Given the description of an element on the screen output the (x, y) to click on. 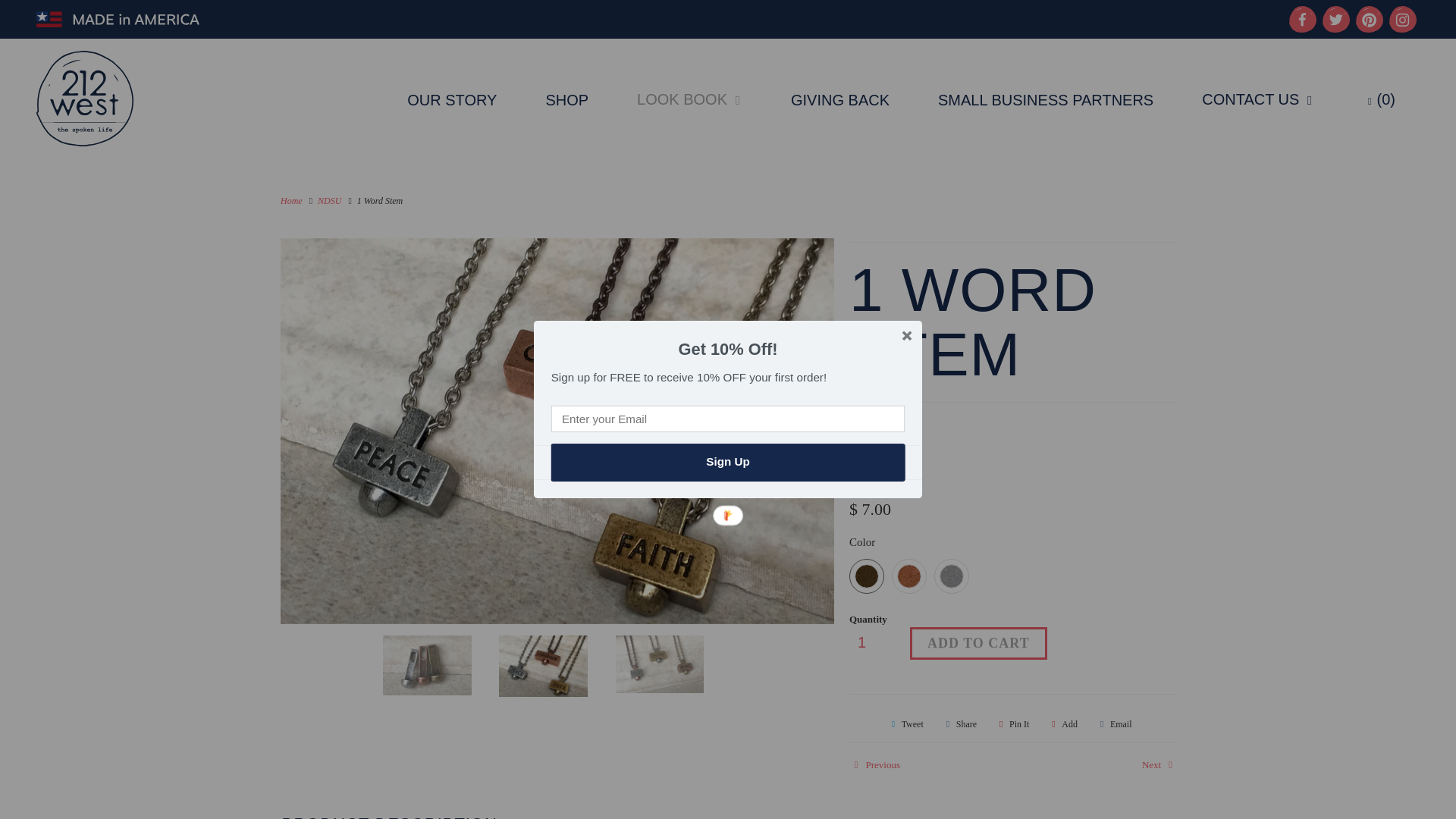
SMALL BUSINESS PARTNERS (1045, 97)
212 west (291, 200)
OUR STORY (451, 97)
CONTACT US (1258, 97)
Share this on Pinterest (1011, 723)
GIVING BACK (839, 97)
LOOK BOOK (689, 97)
212 West (869, 472)
SHOP (566, 97)
NDSU (328, 200)
Email this to a friend (1113, 723)
Share this on Twitter (904, 723)
1 (871, 642)
212 west (84, 98)
